Given the description of an element on the screen output the (x, y) to click on. 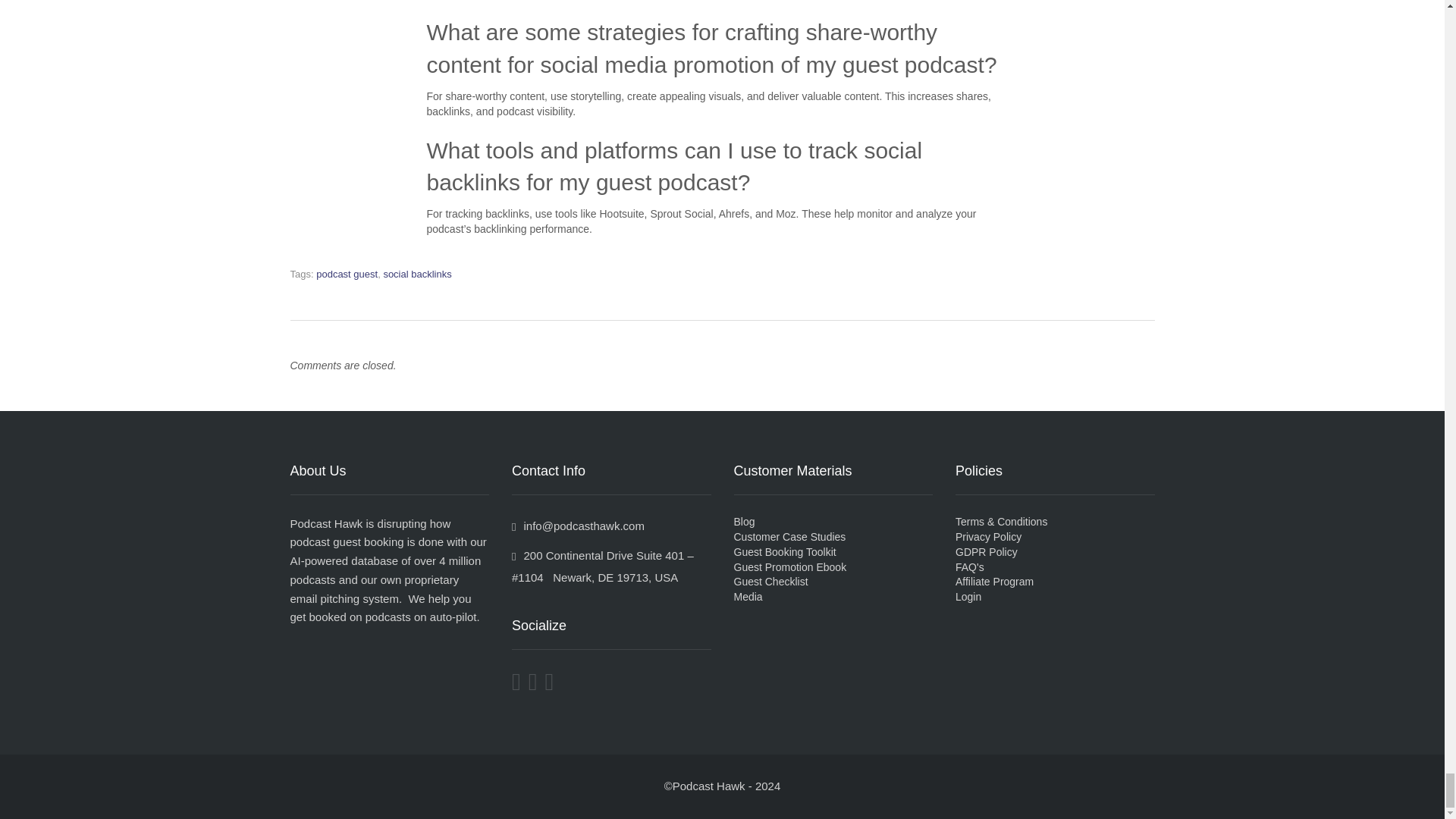
Blog (744, 521)
Customer Case Studies (789, 536)
Guest Promotion Ebook (790, 566)
GDPR Policy (986, 551)
Guest Checklist (770, 581)
social backlinks (416, 274)
Privacy Policy (988, 536)
Affiliate Program (994, 581)
FAQ's (969, 566)
Media (747, 596)
podcast guest (346, 274)
Guest Booking Toolkit (784, 551)
Login (968, 596)
